Given the description of an element on the screen output the (x, y) to click on. 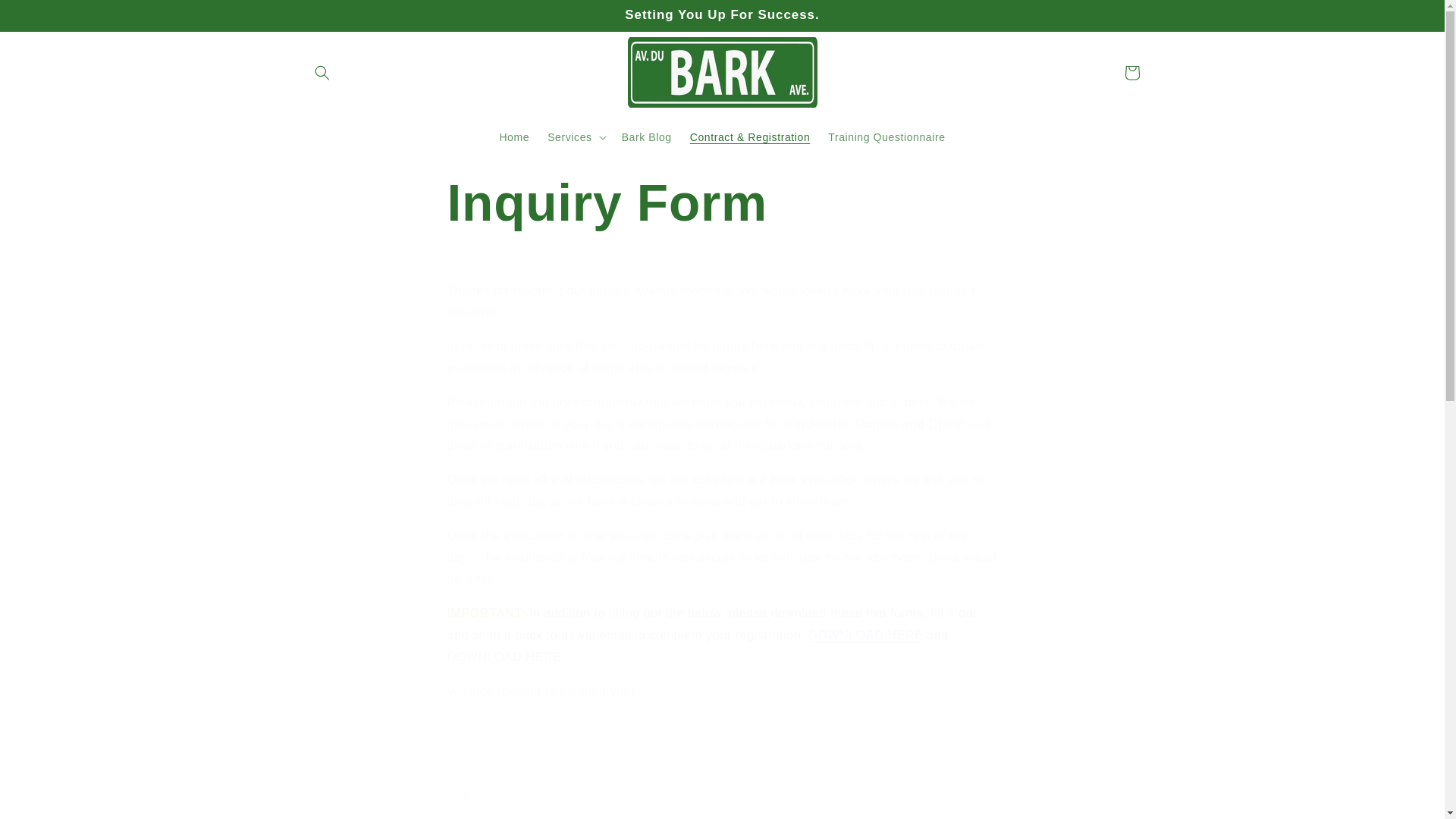
Training Questionnaire (885, 137)
DOWNLOAD HERE (865, 634)
Cart (1131, 72)
Inquiry Form (721, 202)
Home (513, 137)
Bark Blog (646, 137)
DOWNLOAD HERE (504, 656)
Skip to content (45, 17)
